Given the description of an element on the screen output the (x, y) to click on. 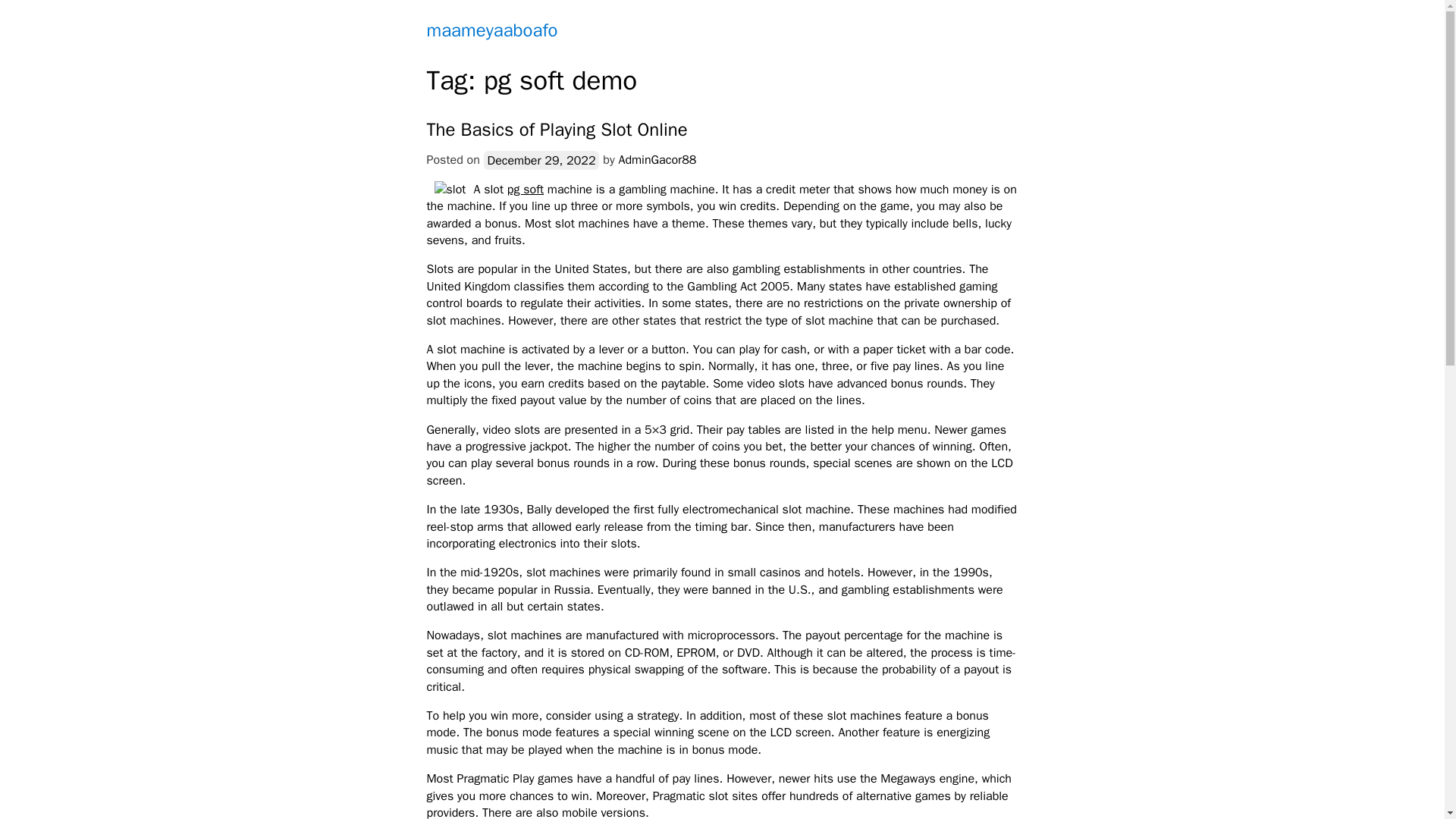
pg soft (524, 189)
maameyaaboafo (491, 29)
December 29, 2022 (541, 159)
